Given the description of an element on the screen output the (x, y) to click on. 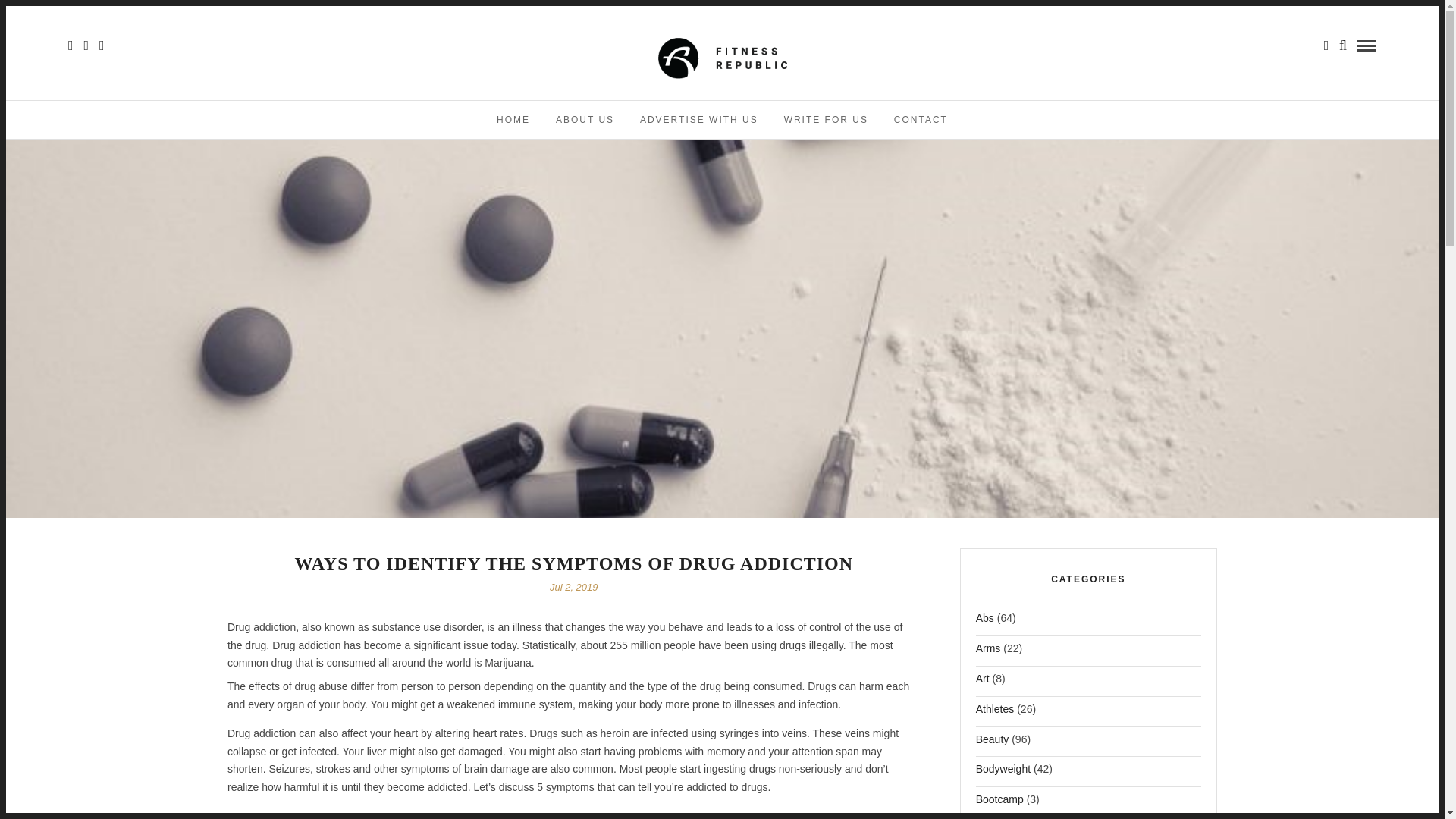
Bodyweight (1002, 773)
ABOUT US (585, 119)
Bootcamp (999, 803)
HOME (512, 119)
Beauty (992, 743)
ADVERTISE WITH US (699, 119)
WRITE FOR US (826, 119)
Arms (988, 652)
CONTACT (920, 119)
Athletes (994, 713)
